Given the description of an element on the screen output the (x, y) to click on. 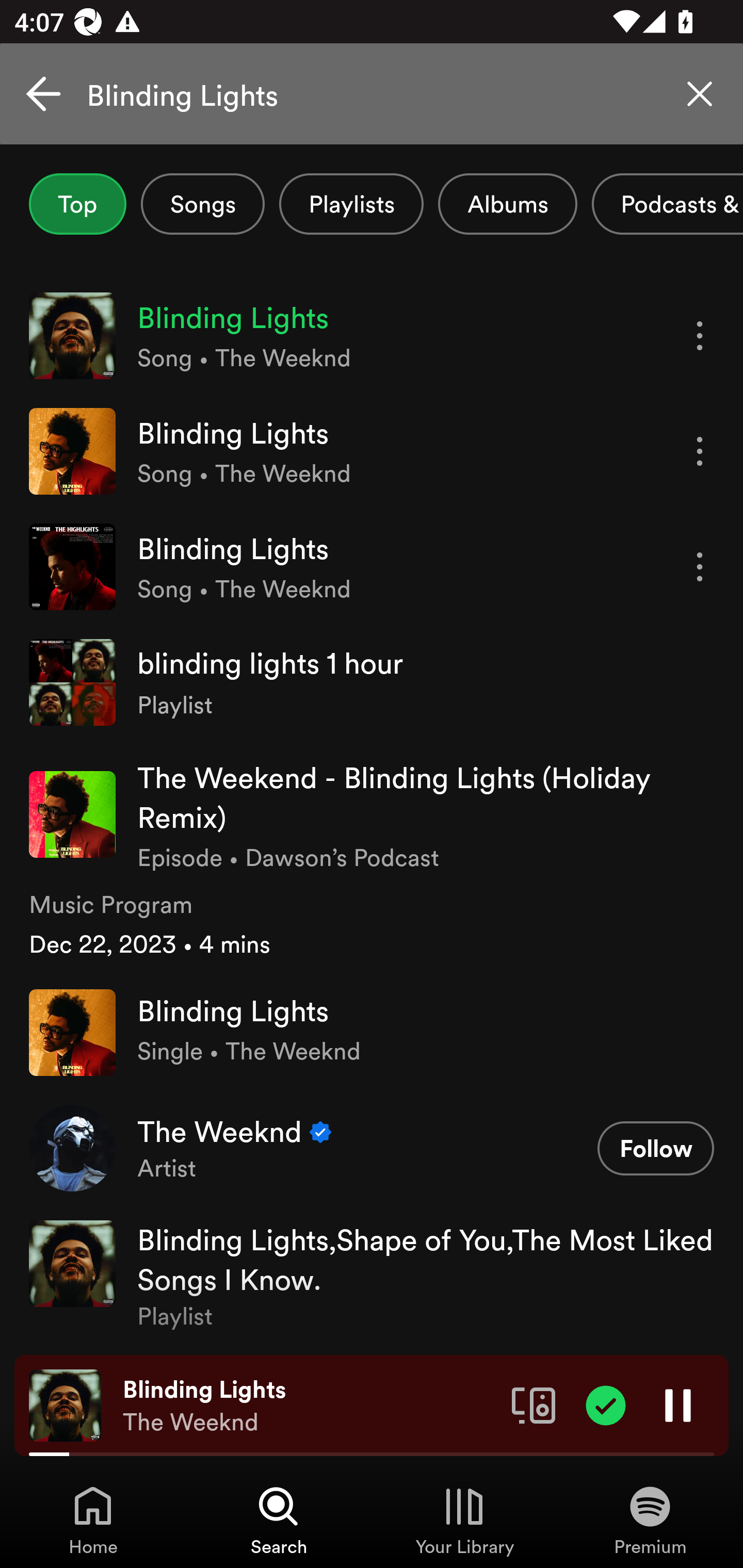
Blinding Lights (371, 93)
Cancel (43, 93)
Clear search query (699, 93)
Top (77, 203)
Songs (202, 203)
Playlists (351, 203)
Albums (507, 203)
Podcasts & Shows (667, 203)
More options for song Blinding Lights (699, 336)
More options for song Blinding Lights (699, 450)
More options for song Blinding Lights (699, 566)
blinding lights 1 hour Playlist (371, 682)
Blinding Lights Single • The Weeknd (371, 1032)
The Weeknd Verified Artist Follow Follow (371, 1147)
Follow (655, 1148)
Blinding Lights The Weeknd (309, 1405)
The cover art of the currently playing track (64, 1404)
Connect to a device. Opens the devices menu (533, 1404)
Item added (605, 1404)
Pause (677, 1404)
Home, Tab 1 of 4 Home Home (92, 1519)
Search, Tab 2 of 4 Search Search (278, 1519)
Your Library, Tab 3 of 4 Your Library Your Library (464, 1519)
Premium, Tab 4 of 4 Premium Premium (650, 1519)
